Given the description of an element on the screen output the (x, y) to click on. 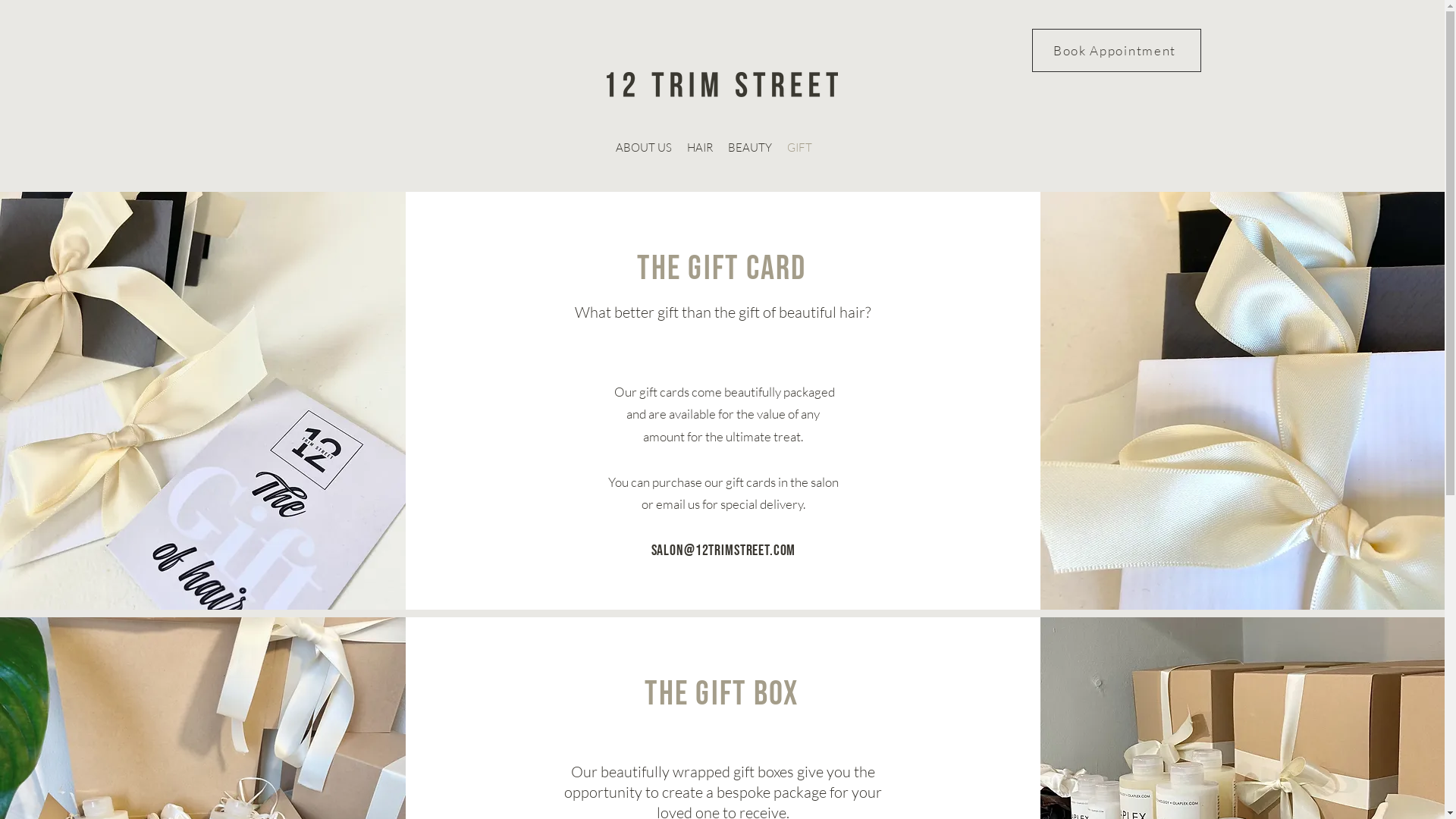
GIFT Element type: text (799, 147)
Book Appointment Element type: text (1115, 50)
HAIR Element type: text (699, 147)
BEAUTY Element type: text (749, 147)
ABOUT US Element type: text (643, 147)
salon@12trimstreet.com Element type: text (723, 550)
